Given the description of an element on the screen output the (x, y) to click on. 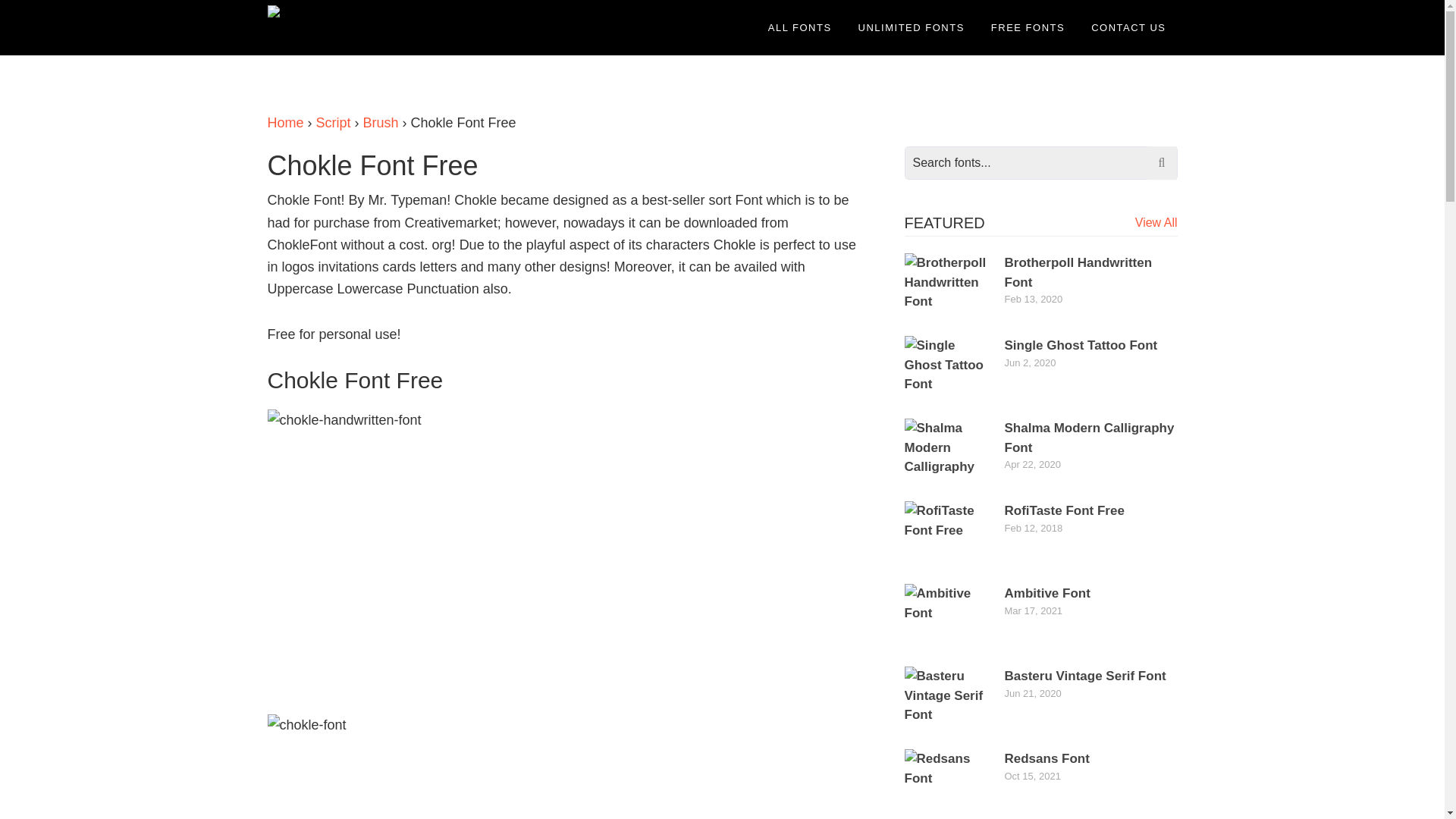
Home (284, 122)
FREE FONTS (1027, 27)
Brush (380, 122)
ALL FONTS (800, 27)
Script (332, 122)
UNLIMITED FONTS (911, 27)
CONTACT US (1128, 27)
View All (1156, 222)
